Given the description of an element on the screen output the (x, y) to click on. 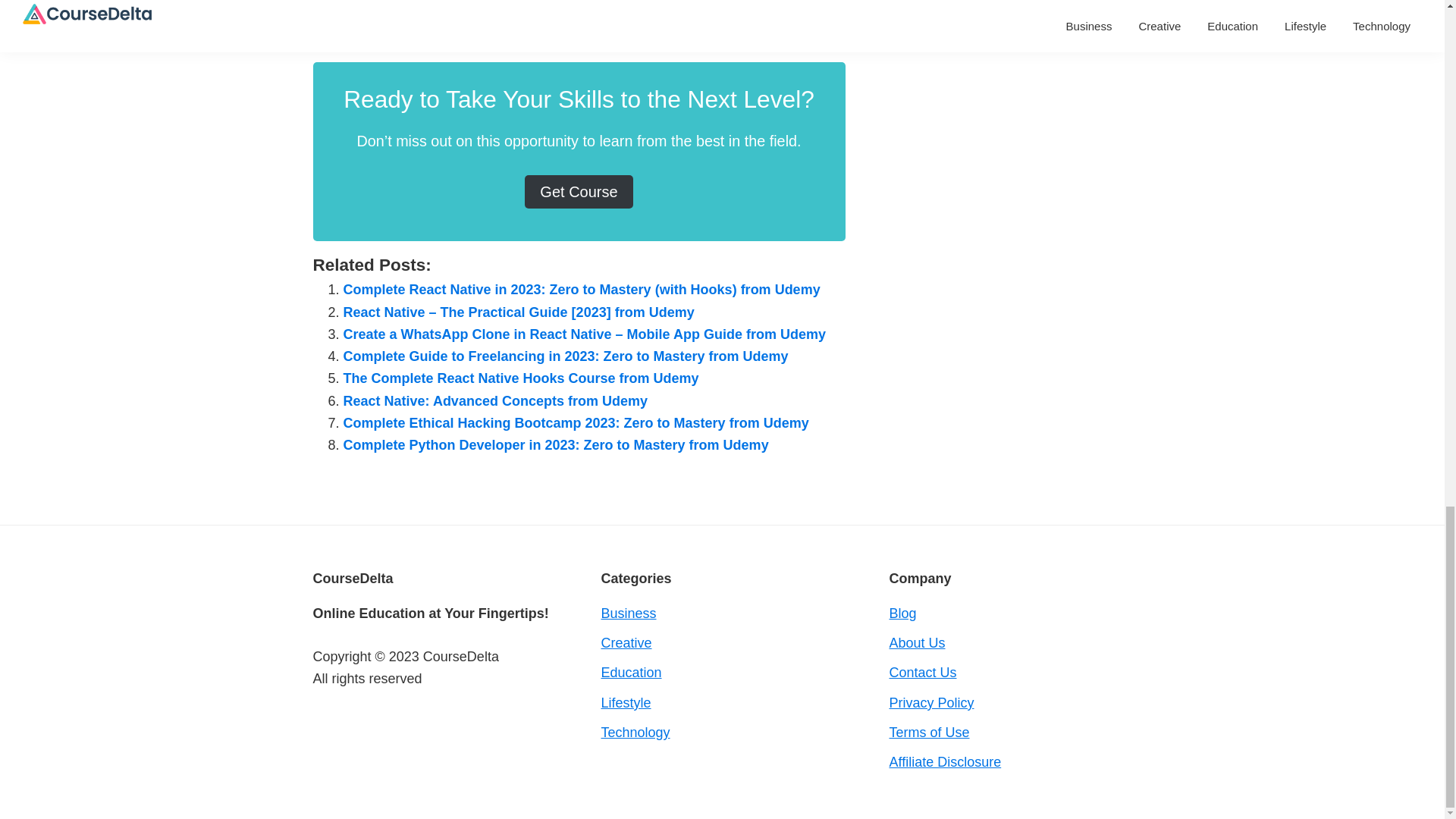
Lifestyle (624, 702)
Technology (634, 732)
React Native: Advanced Concepts from Udemy (494, 400)
Terms of Use (928, 732)
Business (627, 613)
The Complete React Native Hooks Course from Udemy (520, 378)
About Us (916, 642)
Contact Us (922, 672)
React Native: Advanced Concepts from Udemy (494, 400)
Get Course (577, 191)
Education (630, 672)
Blog (901, 613)
